Given the description of an element on the screen output the (x, y) to click on. 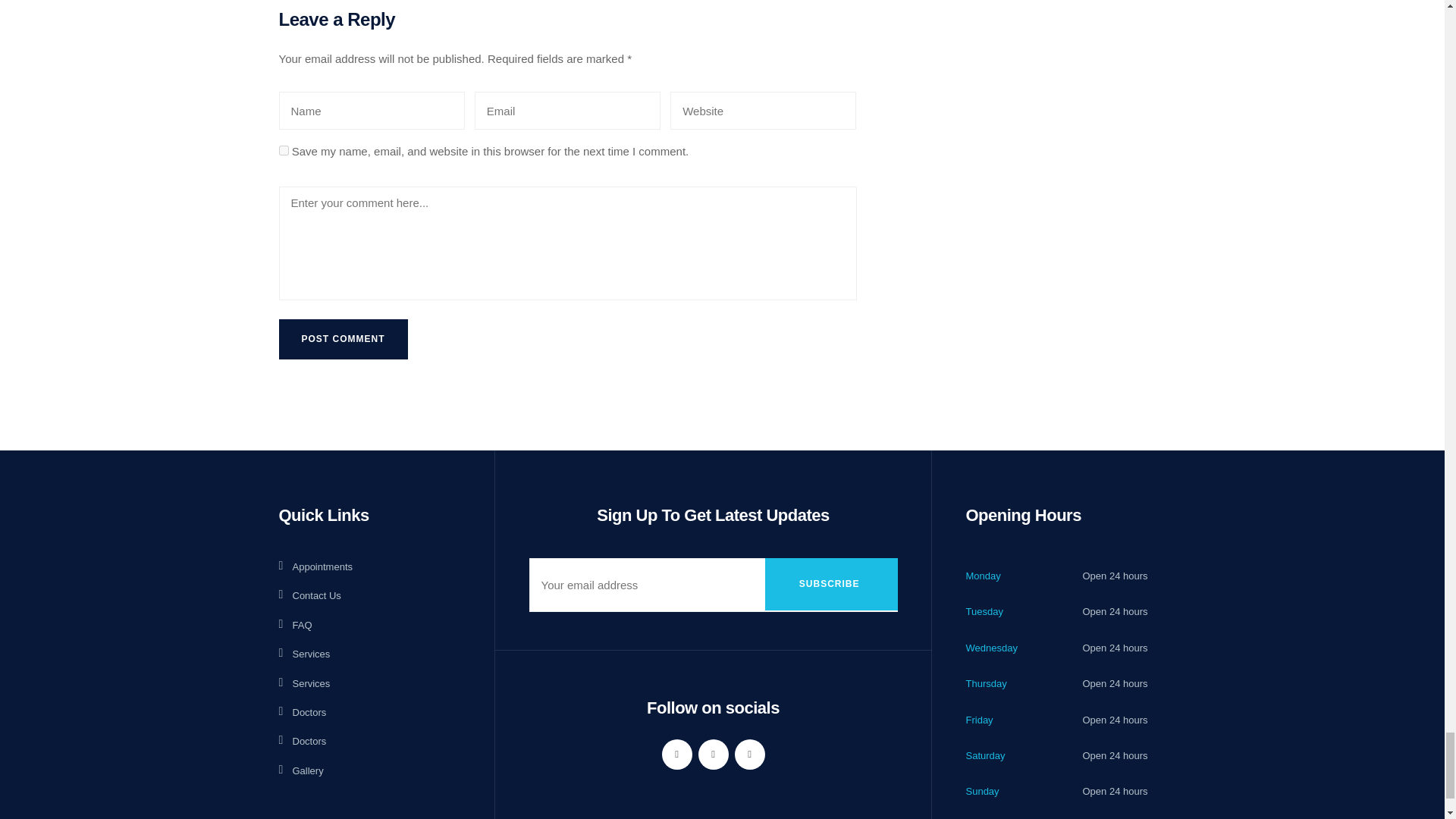
Appointments (316, 566)
Contact Us (309, 595)
Post Comment (343, 339)
Post Comment (343, 339)
FAQ (296, 624)
yes (283, 150)
